Given the description of an element on the screen output the (x, y) to click on. 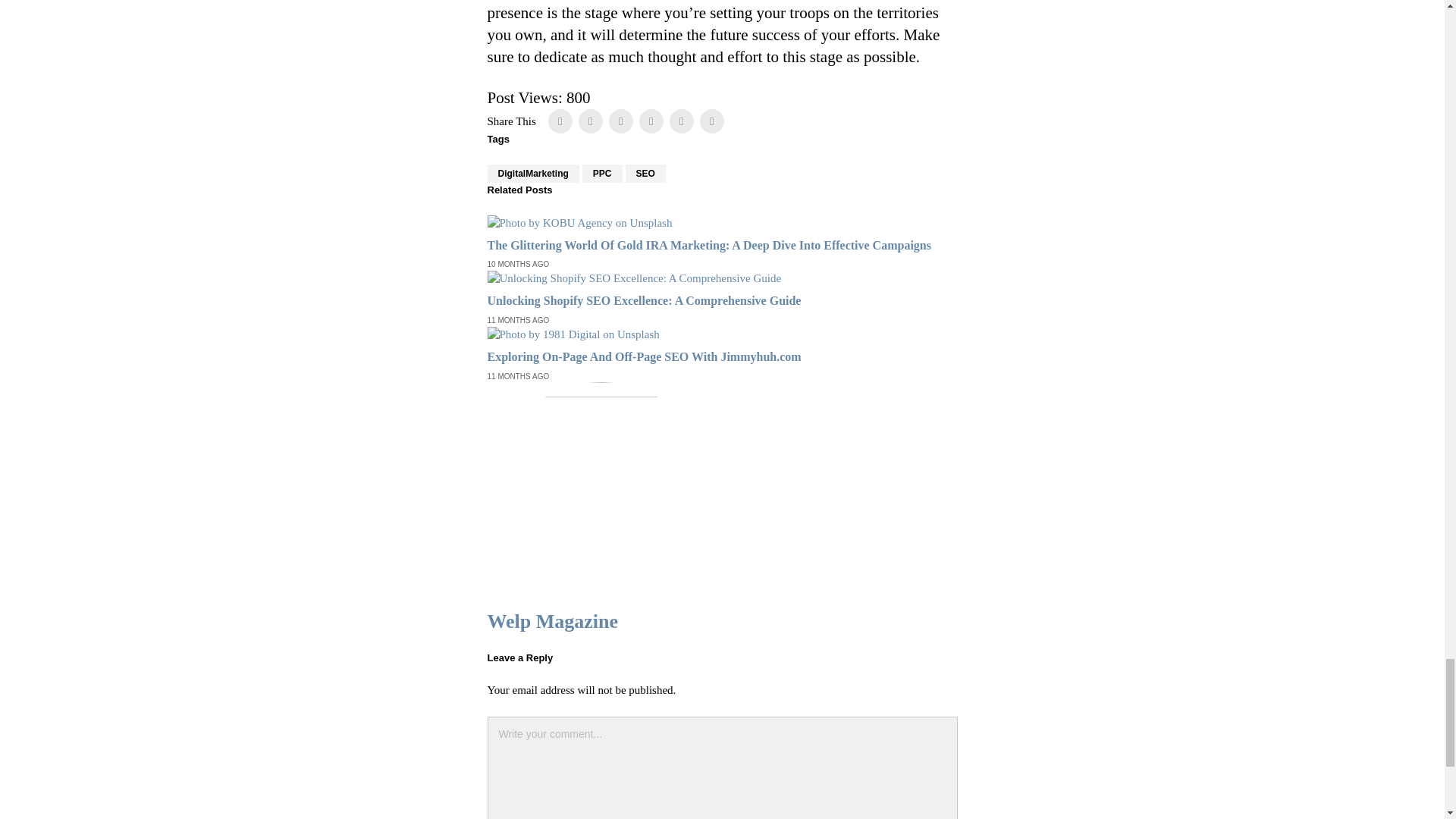
22 Aug, 2023 11:36:12 (517, 376)
12 Oct, 2023 11:18:15 (517, 264)
12 Sep, 2023 12:27:26 (517, 320)
